Given the description of an element on the screen output the (x, y) to click on. 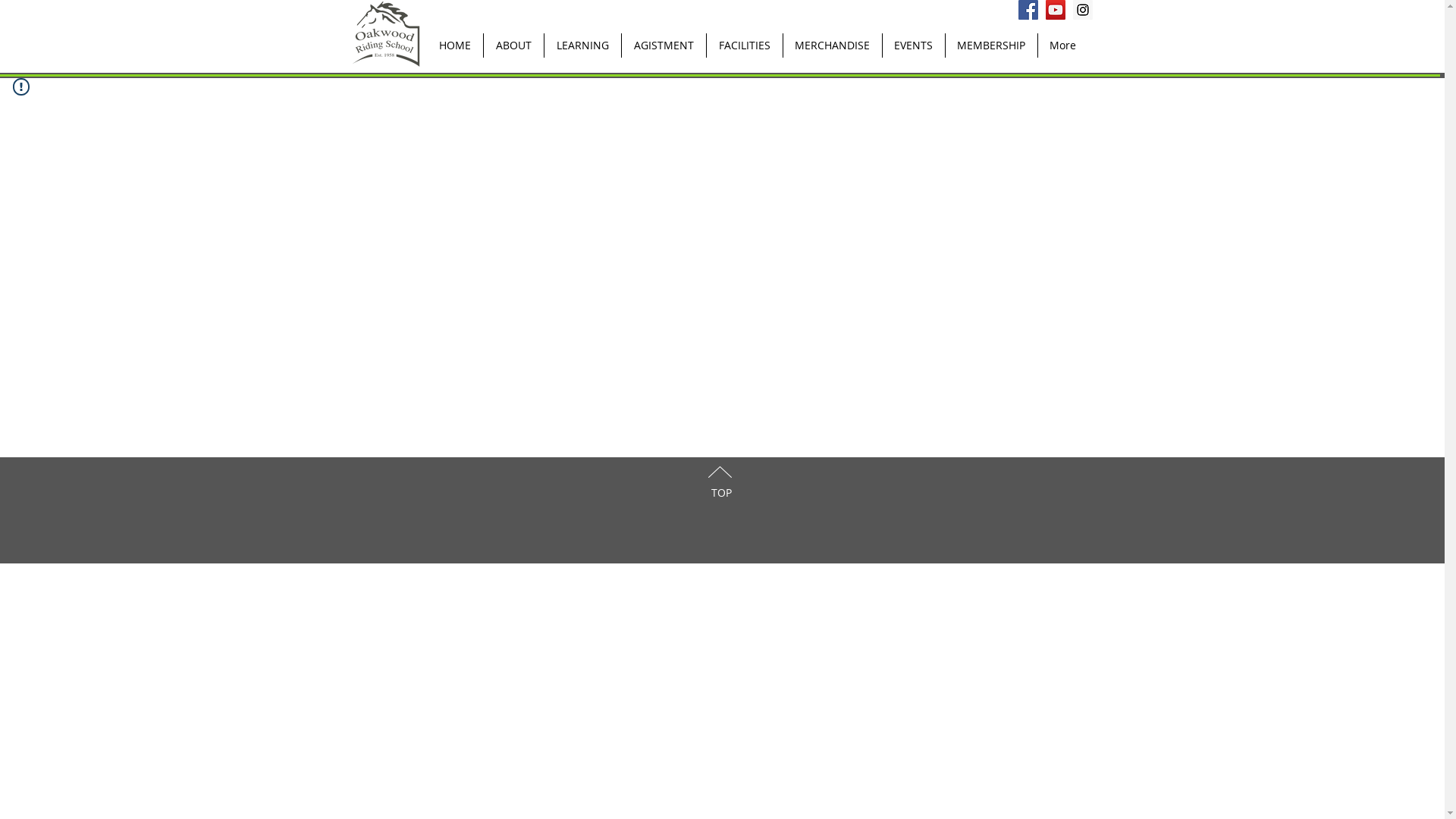
FACILITIES Element type: text (743, 45)
MERCHANDISE Element type: text (831, 45)
HOME Element type: text (454, 45)
EVENTS Element type: text (912, 45)
LEARNING Element type: text (581, 45)
AGISTMENT Element type: text (662, 45)
TOP Element type: text (721, 492)
ABOUT Element type: text (512, 45)
MEMBERSHIP Element type: text (990, 45)
